Given the description of an element on the screen output the (x, y) to click on. 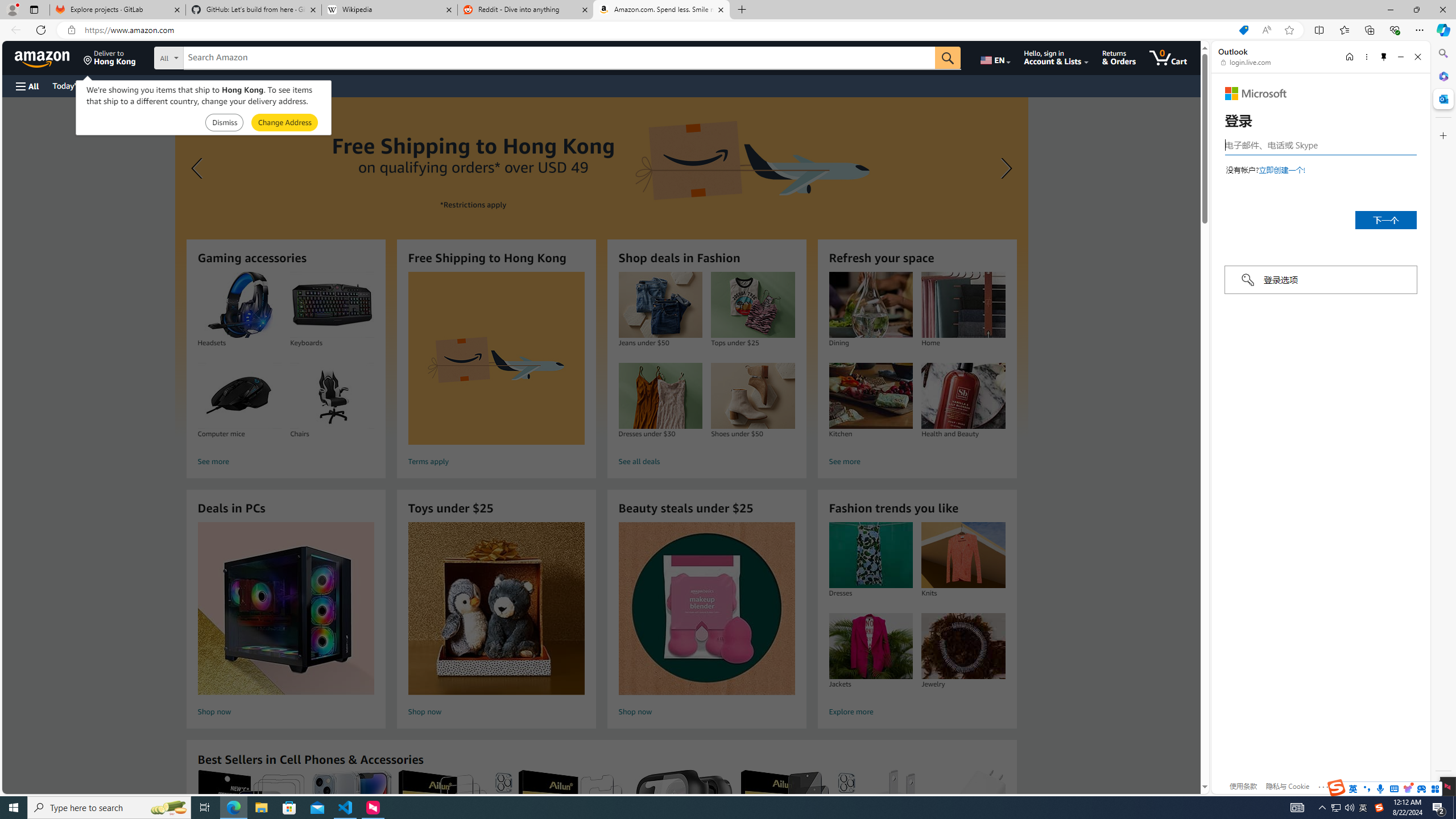
Jewelry (963, 645)
Free Shipping to Hong Kong Learn more (600, 267)
Beauty steals under $25 Shop now (706, 620)
Deals in PCs (285, 608)
Keyboards (331, 304)
Free Shipping to Hong Kong Terms apply (495, 370)
Wikipedia (390, 9)
Headsets (239, 304)
Dresses under $30 (659, 395)
